Given the description of an element on the screen output the (x, y) to click on. 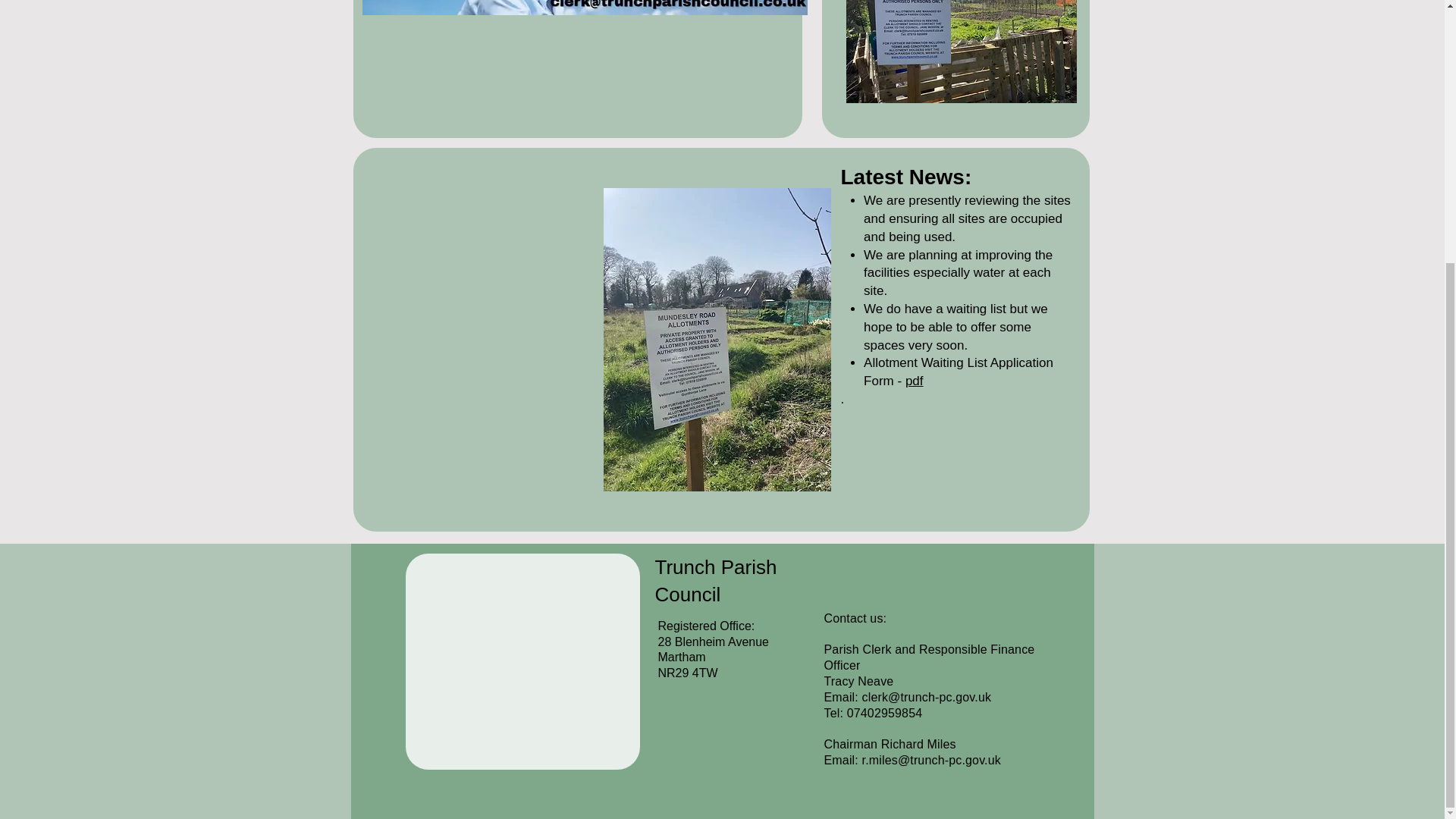
Google Maps (520, 661)
pdf (914, 380)
